Given the description of an element on the screen output the (x, y) to click on. 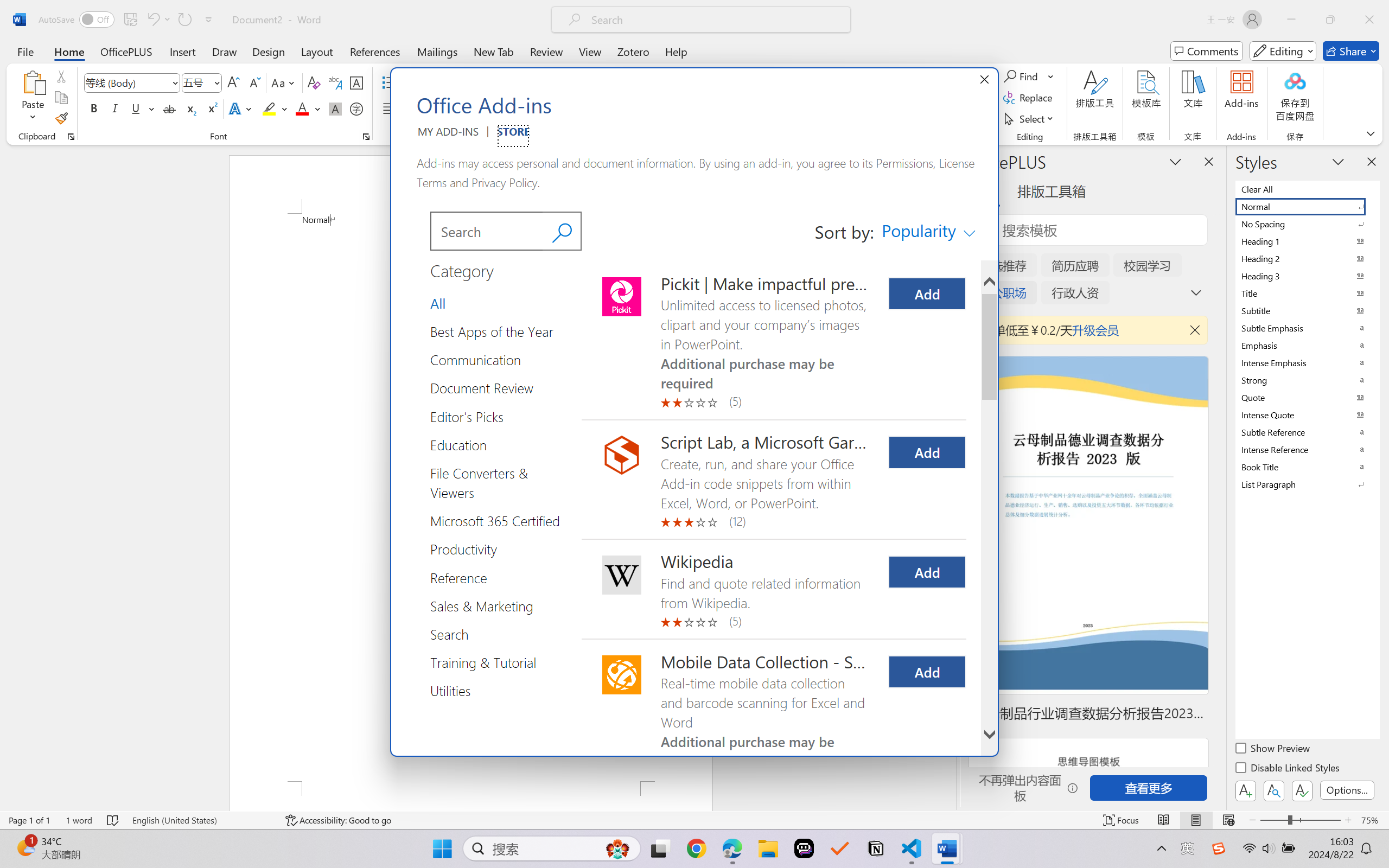
MY ADD-INS (448, 135)
Change Case (284, 82)
Undo Apply Quick Style (152, 19)
Layout (316, 51)
Show Preview (1273, 749)
Category Group Communication 3 of 14 (479, 359)
Phonetic Guide... (334, 82)
Subscript (190, 108)
